Given the description of an element on the screen output the (x, y) to click on. 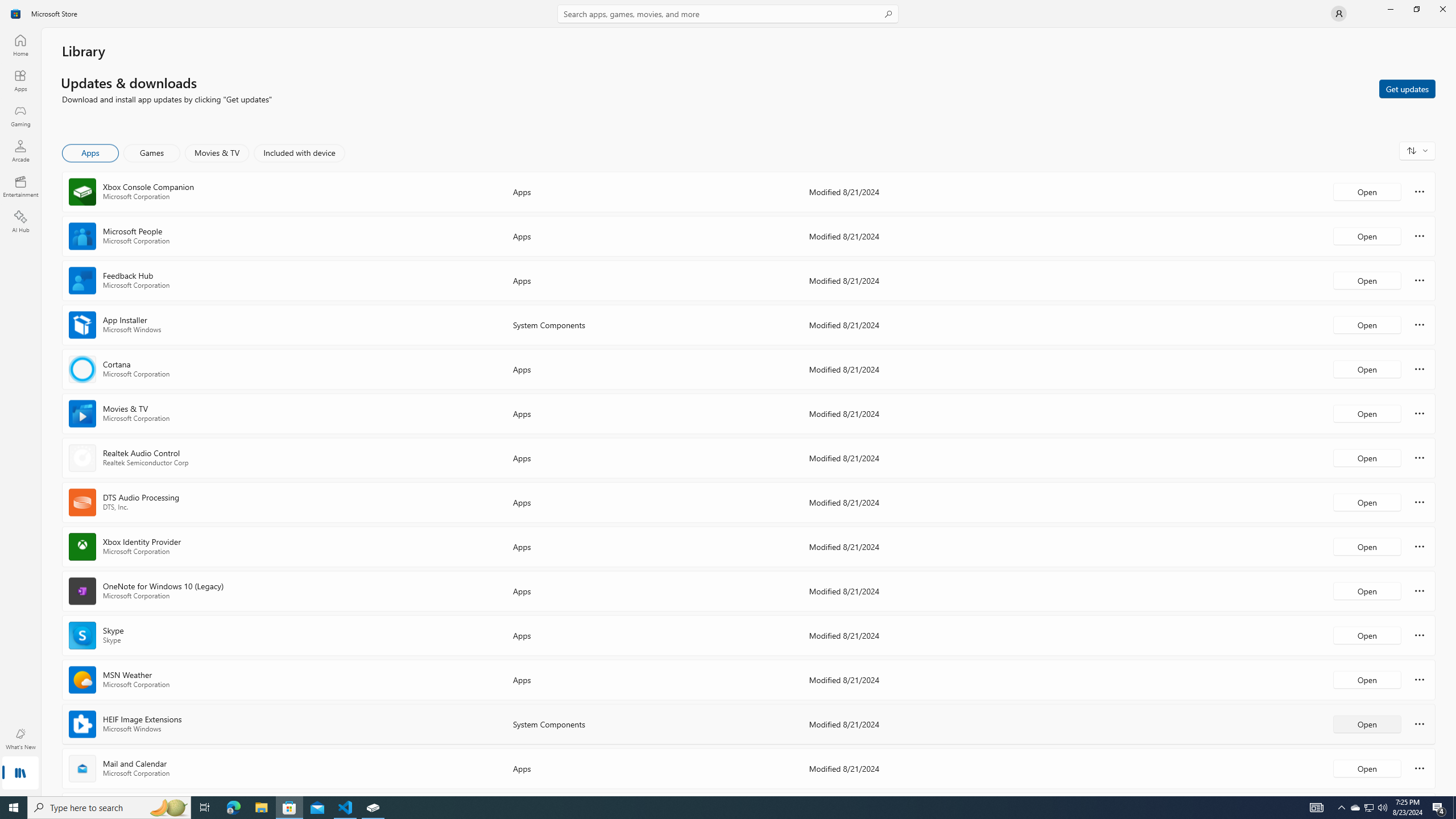
AutomationID: NavigationControl (728, 398)
Gaming (20, 115)
Close Microsoft Store (1442, 9)
More options (1419, 768)
User profile (1338, 13)
Library (20, 773)
Apps (90, 153)
Minimize Microsoft Store (1390, 9)
Arcade (20, 150)
Get updates (1406, 88)
Search (727, 13)
Class: Image (15, 13)
Entertainment (20, 185)
AI Hub (20, 221)
Open (1366, 768)
